Given the description of an element on the screen output the (x, y) to click on. 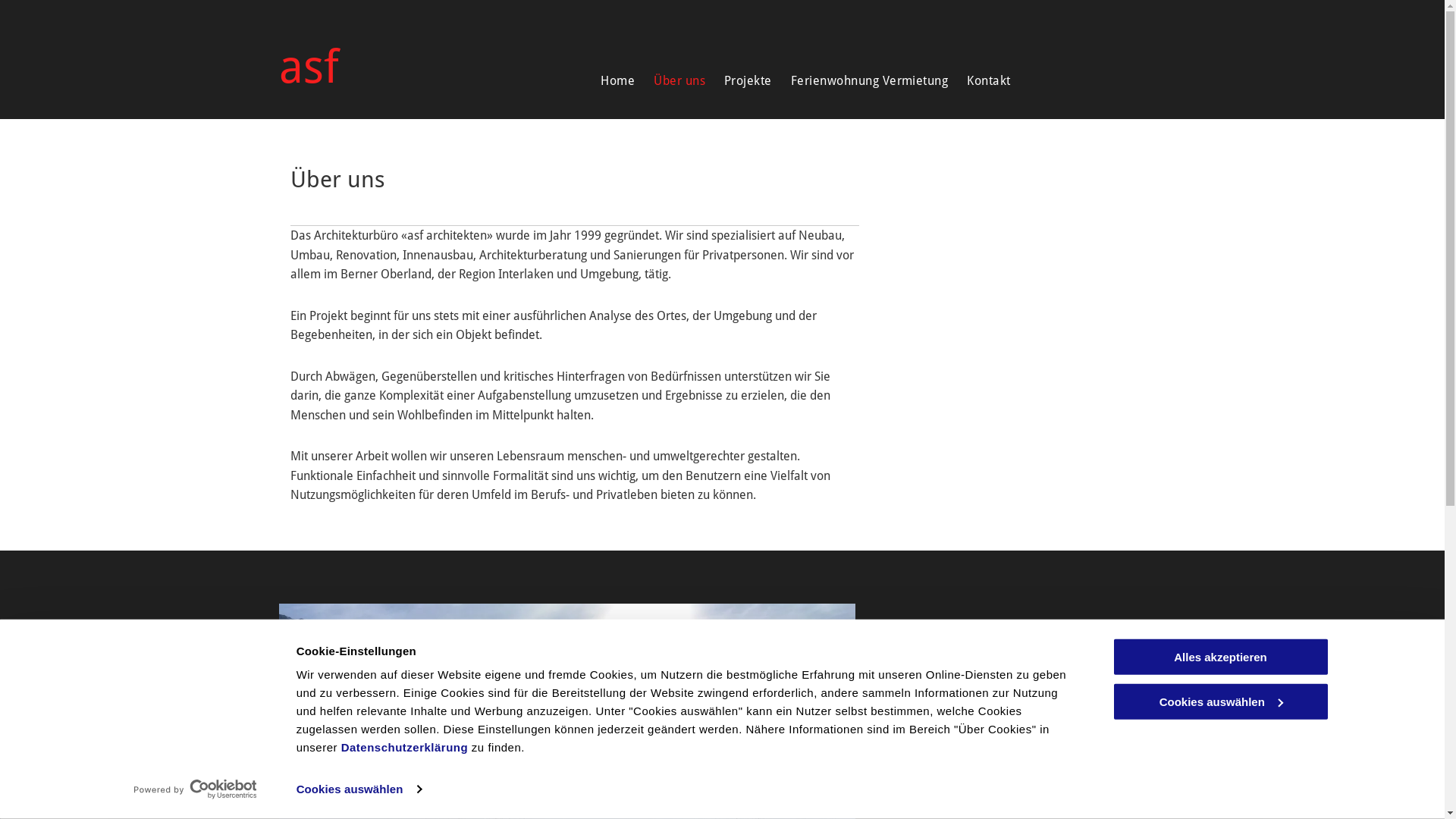
Kontakt Element type: text (978, 81)
Home Element type: text (607, 81)
asf Element type: text (308, 66)
Ferienwohnung Vermietung Element type: text (859, 81)
Projekte Element type: text (738, 81)
Alles akzeptieren Element type: text (1219, 656)
